Given the description of an element on the screen output the (x, y) to click on. 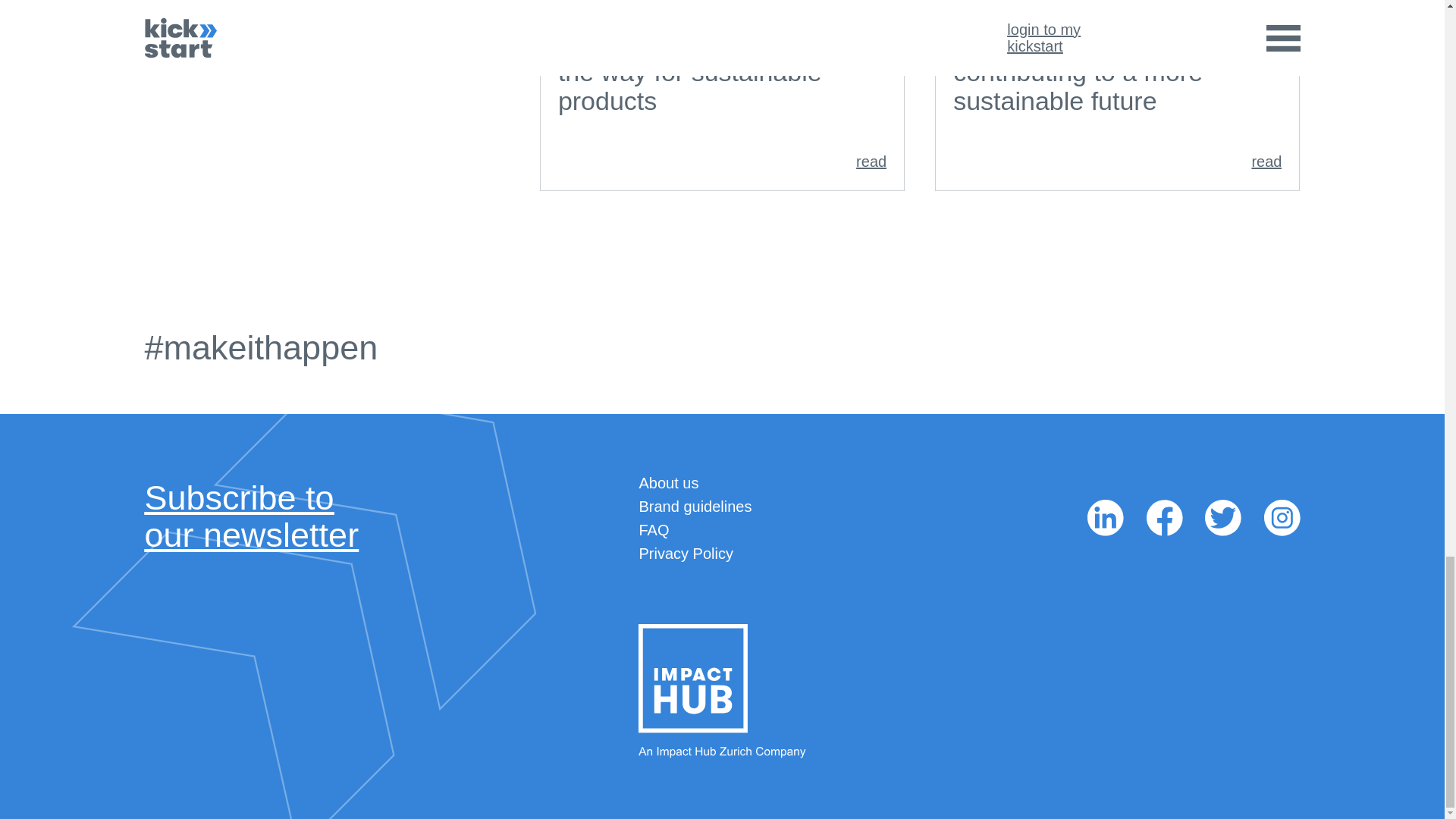
read (721, 161)
read (1117, 161)
About us (668, 483)
FAQ (251, 516)
Privacy Policy (653, 529)
Brand guidelines (685, 553)
